Given the description of an element on the screen output the (x, y) to click on. 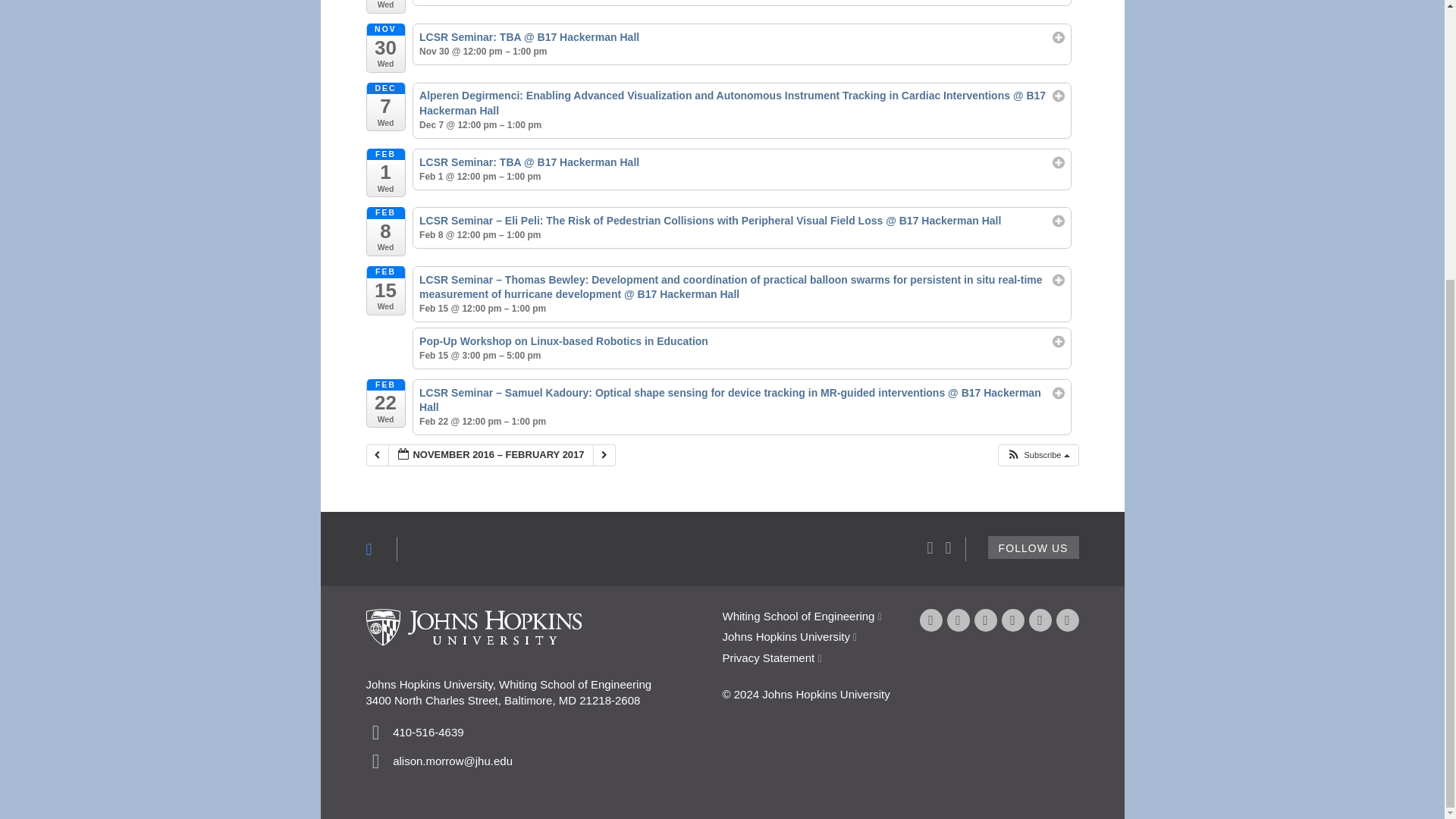
Twitter (957, 620)
Follow us on Twitter (1033, 547)
YouTube (984, 620)
LinkedIn (1039, 620)
Choose a date using calendar (491, 455)
Facebook (930, 620)
